Given the description of an element on the screen output the (x, y) to click on. 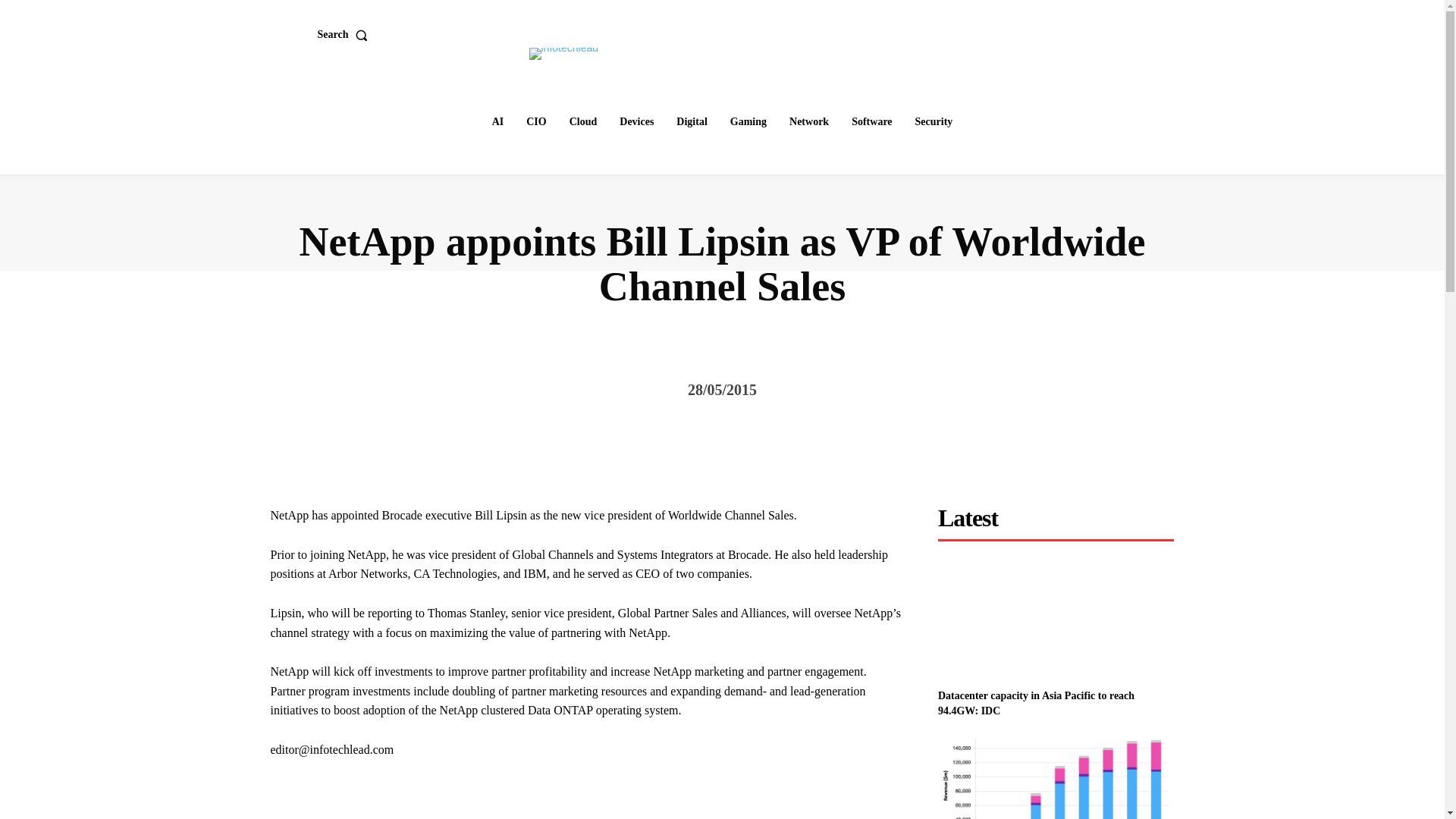
Search (345, 34)
infotechlead (563, 53)
CIO (535, 122)
Cloud (583, 122)
